Given the description of an element on the screen output the (x, y) to click on. 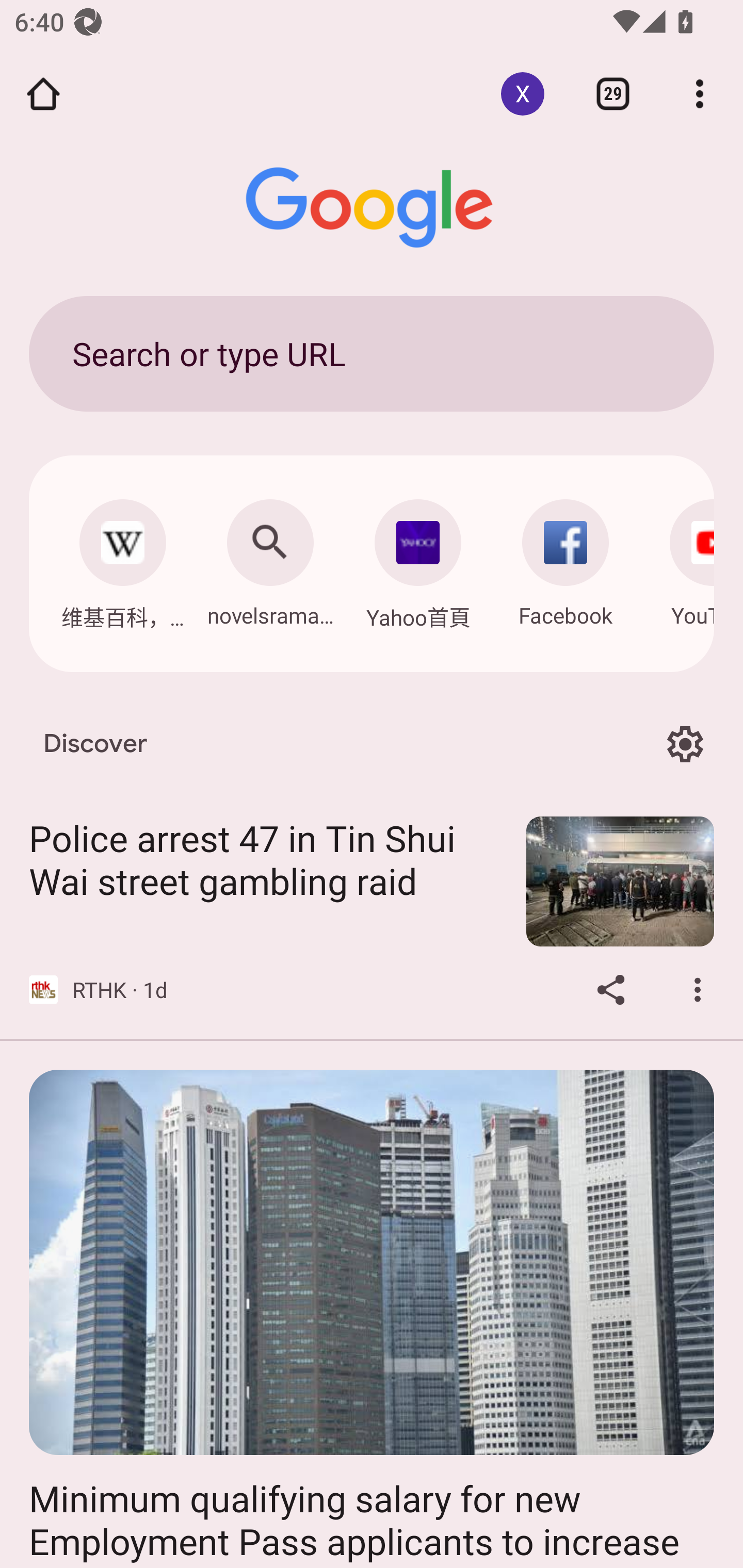
Open the home page (43, 93)
Switch or close tabs (612, 93)
Customize and control Google Chrome (699, 93)
Search or type URL (371, 353)
Navigate: Yahoo首頁: hk.mobi.yahoo.com Yahoo首頁 (417, 558)
Navigate: Facebook: m.facebook.com Facebook (565, 558)
Options for Discover (684, 743)
